Given the description of an element on the screen output the (x, y) to click on. 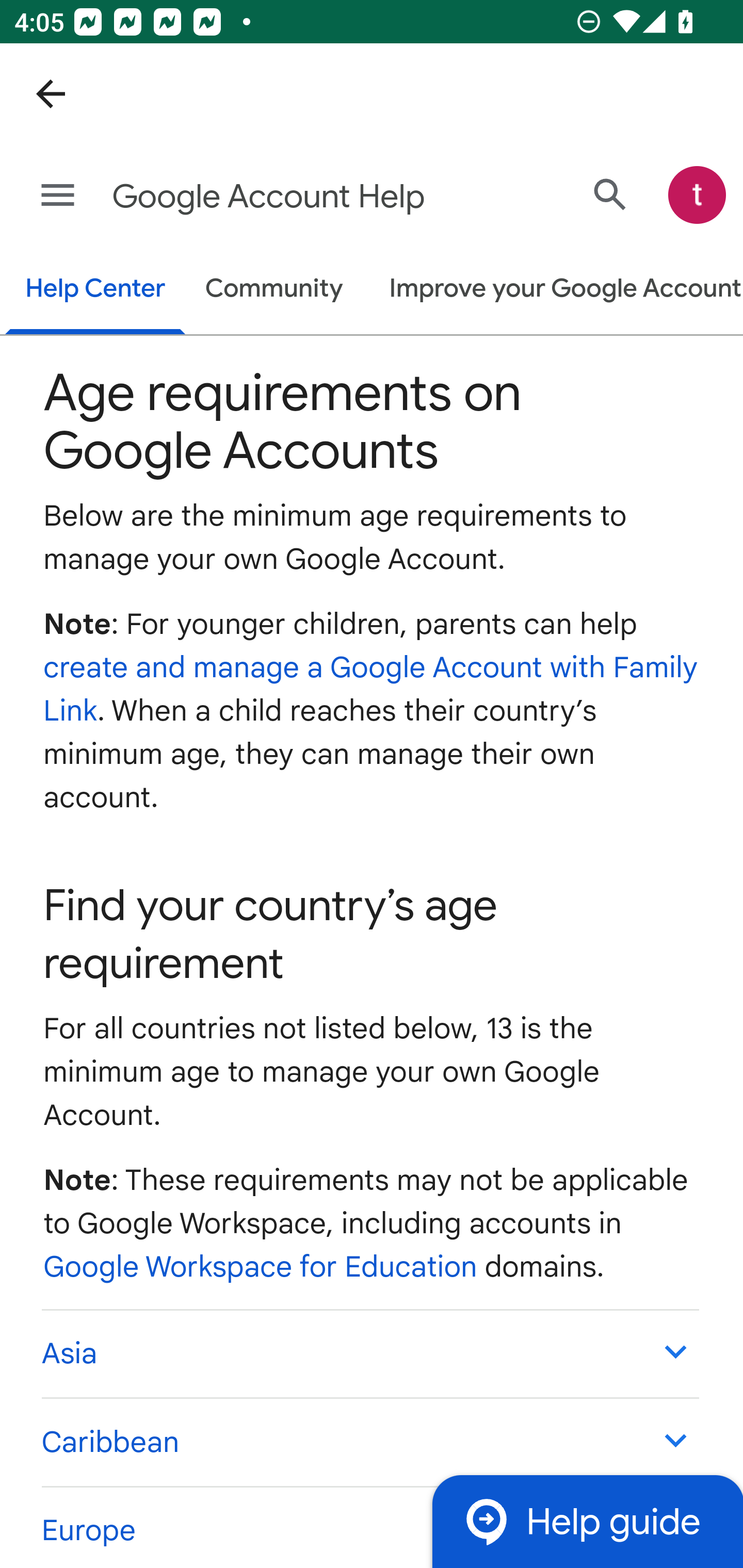
Navigate up (50, 93)
Main menu (58, 195)
Google Account Help (292, 197)
Search Help Center (610, 195)
Help Center (94, 290)
Community (274, 289)
Improve your Google Account (555, 289)
Google Workspace for Education (260, 1267)
Asia (369, 1352)
Caribbean (369, 1442)
Help guide (587, 1520)
Europe (369, 1525)
